Given the description of an element on the screen output the (x, y) to click on. 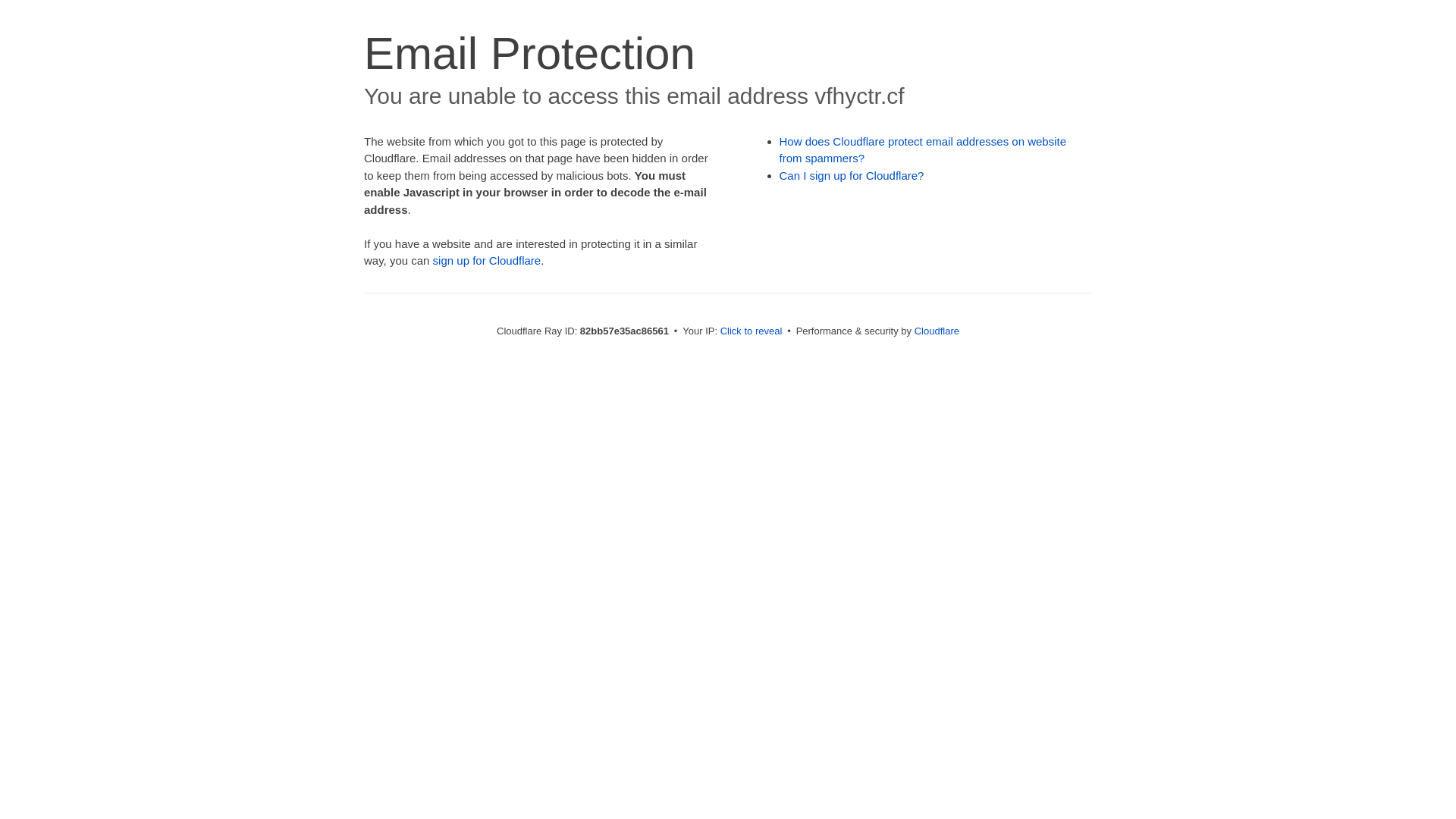
Cloudflare Element type: text (936, 330)
Can I sign up for Cloudflare? Element type: text (851, 175)
sign up for Cloudflare Element type: text (487, 260)
Click to reveal Element type: text (751, 330)
